Given the description of an element on the screen output the (x, y) to click on. 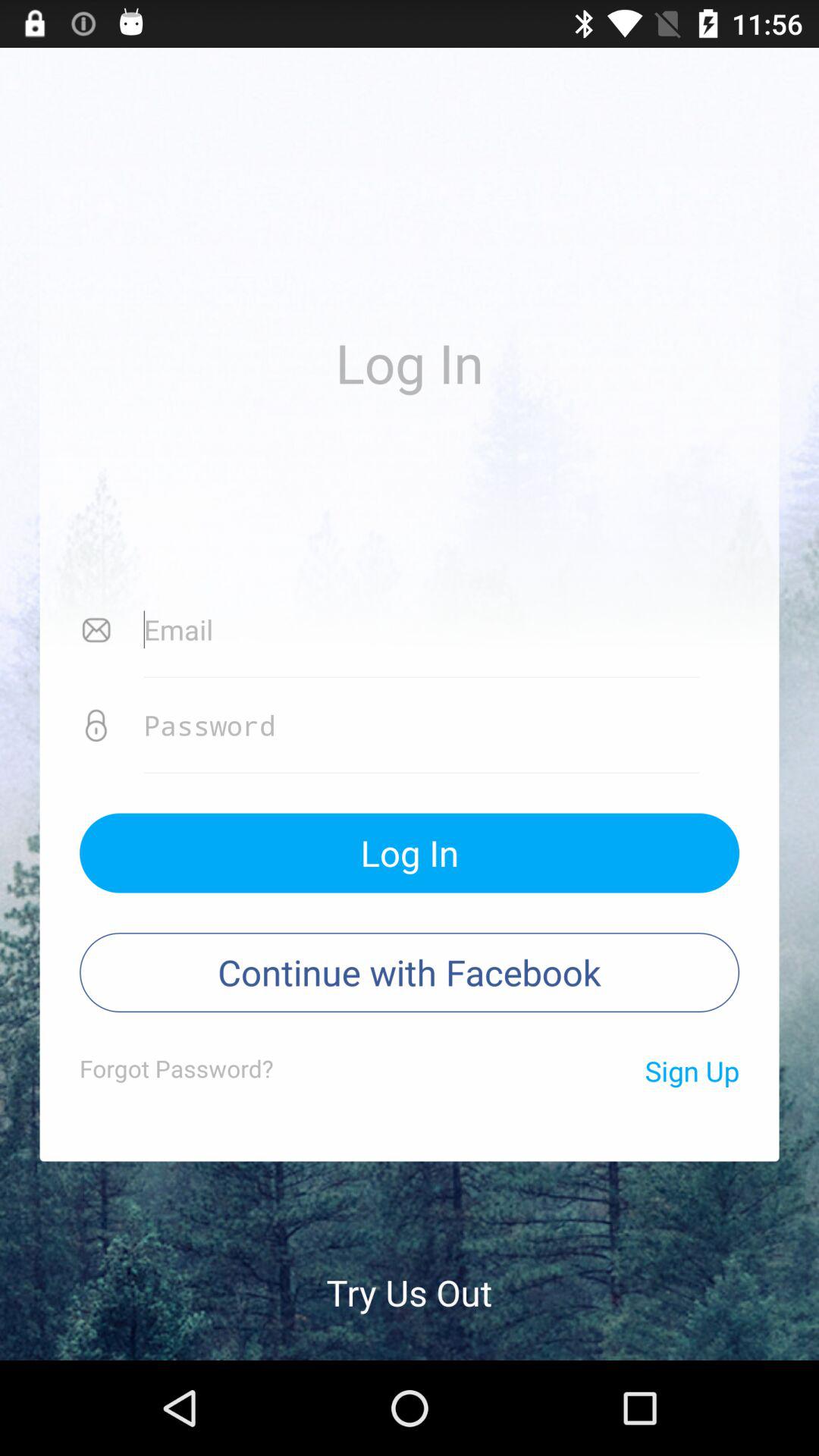
email address icon (421, 629)
